Given the description of an element on the screen output the (x, y) to click on. 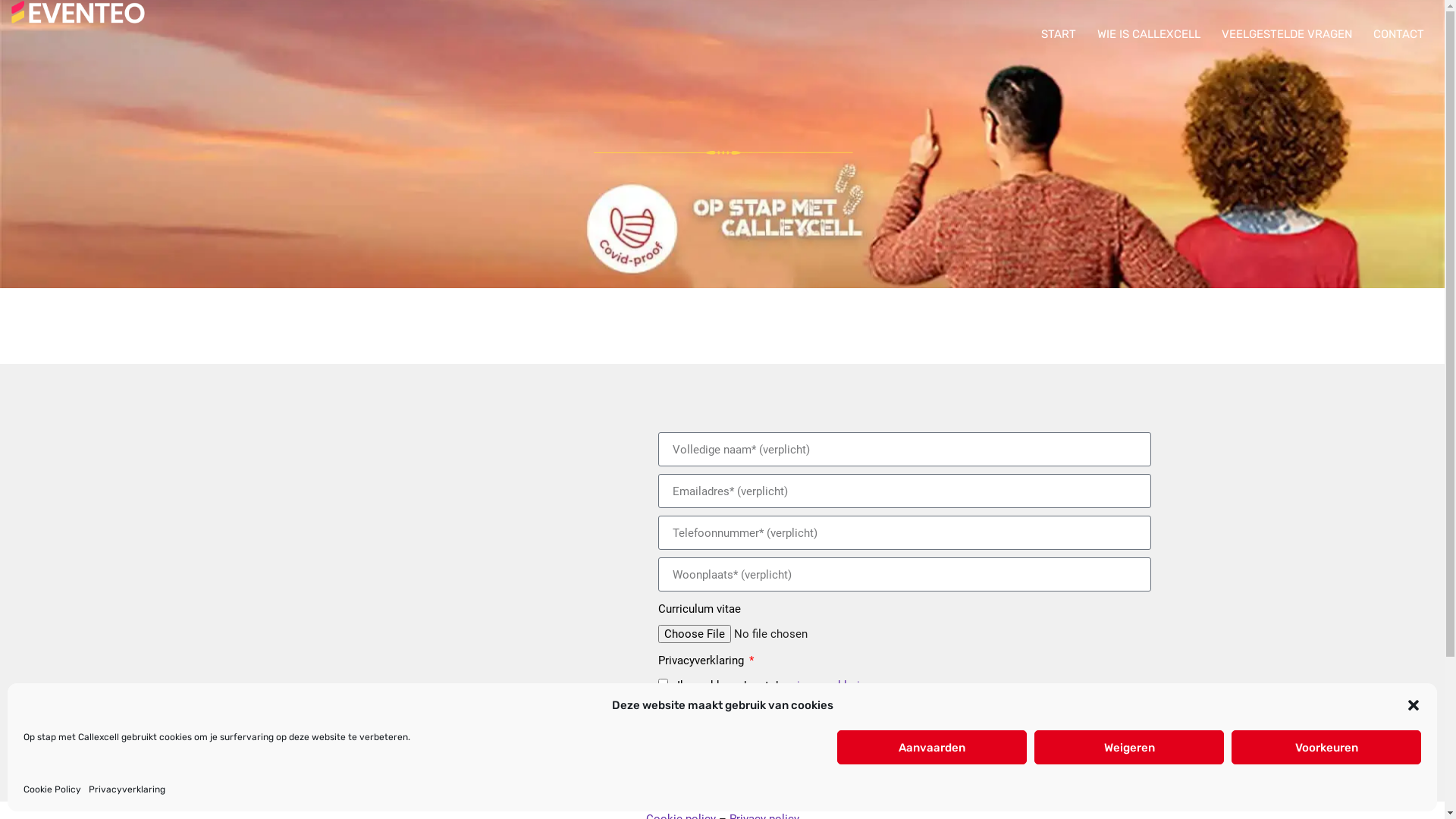
Privacyverklaring Element type: text (126, 789)
Voorkeuren Element type: text (1326, 747)
Cookie Policy Element type: text (52, 789)
START Element type: text (1058, 34)
WIE IS CALLEXCELL Element type: text (1148, 34)
Weigeren Element type: text (1128, 747)
privacyverklaring Element type: text (829, 685)
Versturen Element type: text (904, 717)
VEELGESTELDE VRAGEN Element type: text (1286, 34)
CONTACT Element type: text (1398, 34)
Aanvaarden Element type: text (931, 747)
